Given the description of an element on the screen output the (x, y) to click on. 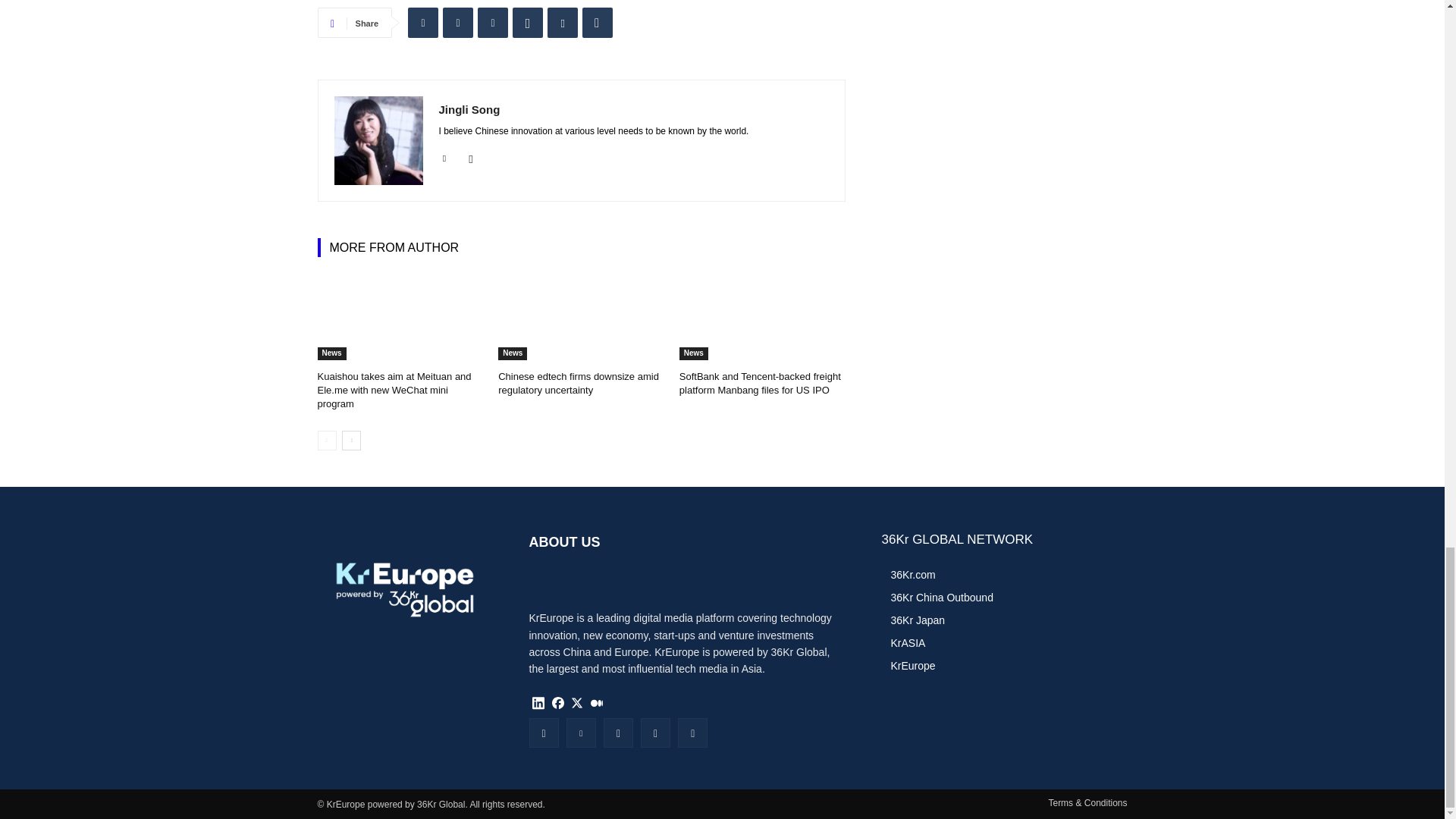
Copy URL (597, 22)
Linkedin (422, 22)
Facebook (492, 22)
Linkedin (443, 155)
Mail (471, 155)
Twitter (457, 22)
Email (562, 22)
Jingli Song (377, 140)
WhatsApp (527, 22)
